Given the description of an element on the screen output the (x, y) to click on. 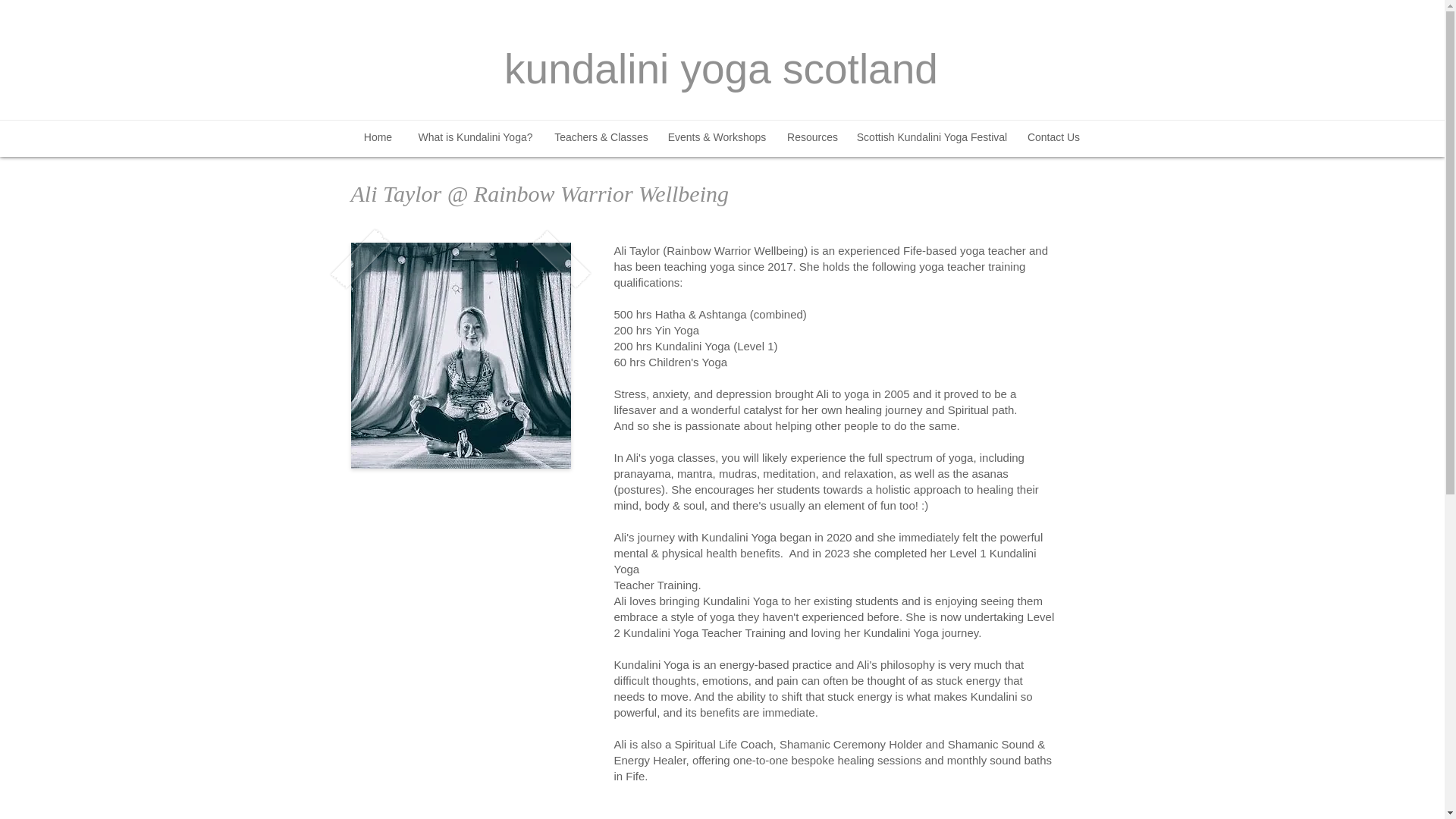
Contact Us (1053, 136)
What is Kundalini Yoga? (475, 136)
Home (378, 136)
kundalini yoga scotland (720, 68)
Scottish Kundalini Yoga Festival (931, 136)
